Given the description of an element on the screen output the (x, y) to click on. 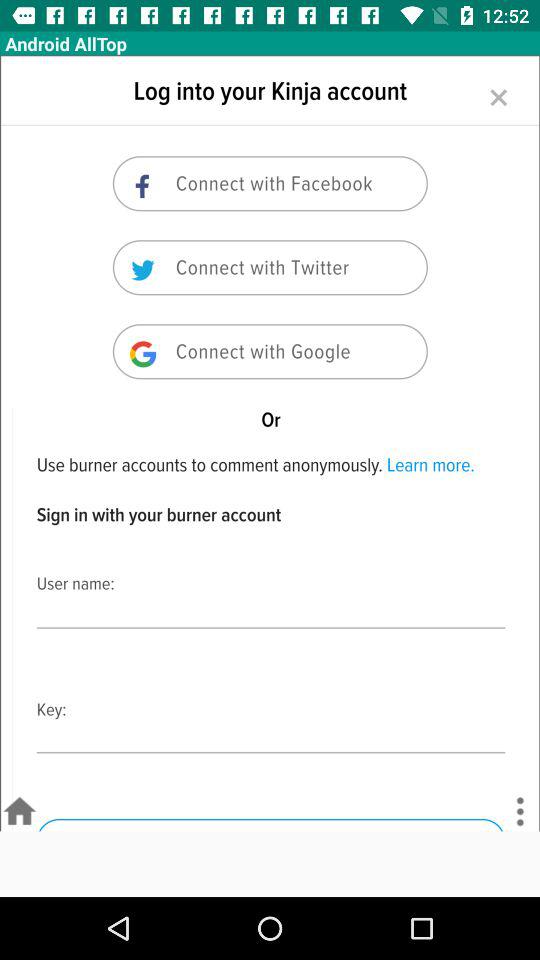
login page (270, 443)
